Given the description of an element on the screen output the (x, y) to click on. 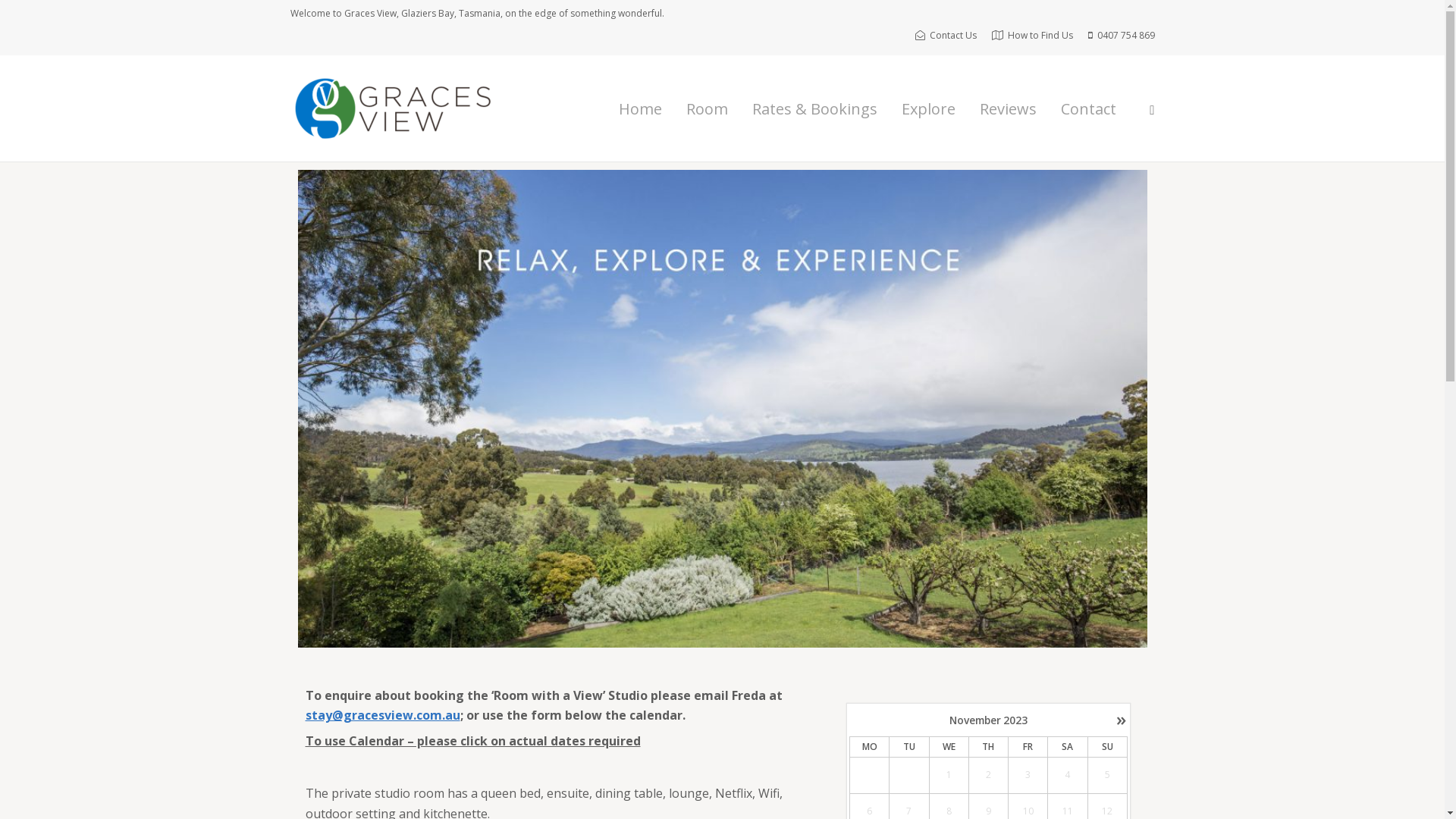
Rates & Bookings Element type: text (814, 109)
Reviews Element type: text (1007, 109)
1 Element type: text (948, 774)
2 Element type: text (987, 774)
stay@gracesview.com.au Element type: text (381, 714)
0407 754 869 Element type: text (1120, 34)
How to Find Us Element type: text (1032, 34)
5 Element type: text (1106, 774)
Room Element type: text (707, 109)
  Element type: text (908, 774)
3 Element type: text (1027, 774)
  Element type: text (868, 774)
Home Element type: text (640, 109)
4 Element type: text (1067, 774)
Explore Element type: text (928, 109)
Contact Us Element type: text (944, 34)
Contact Element type: text (1088, 109)
